Given the description of an element on the screen output the (x, y) to click on. 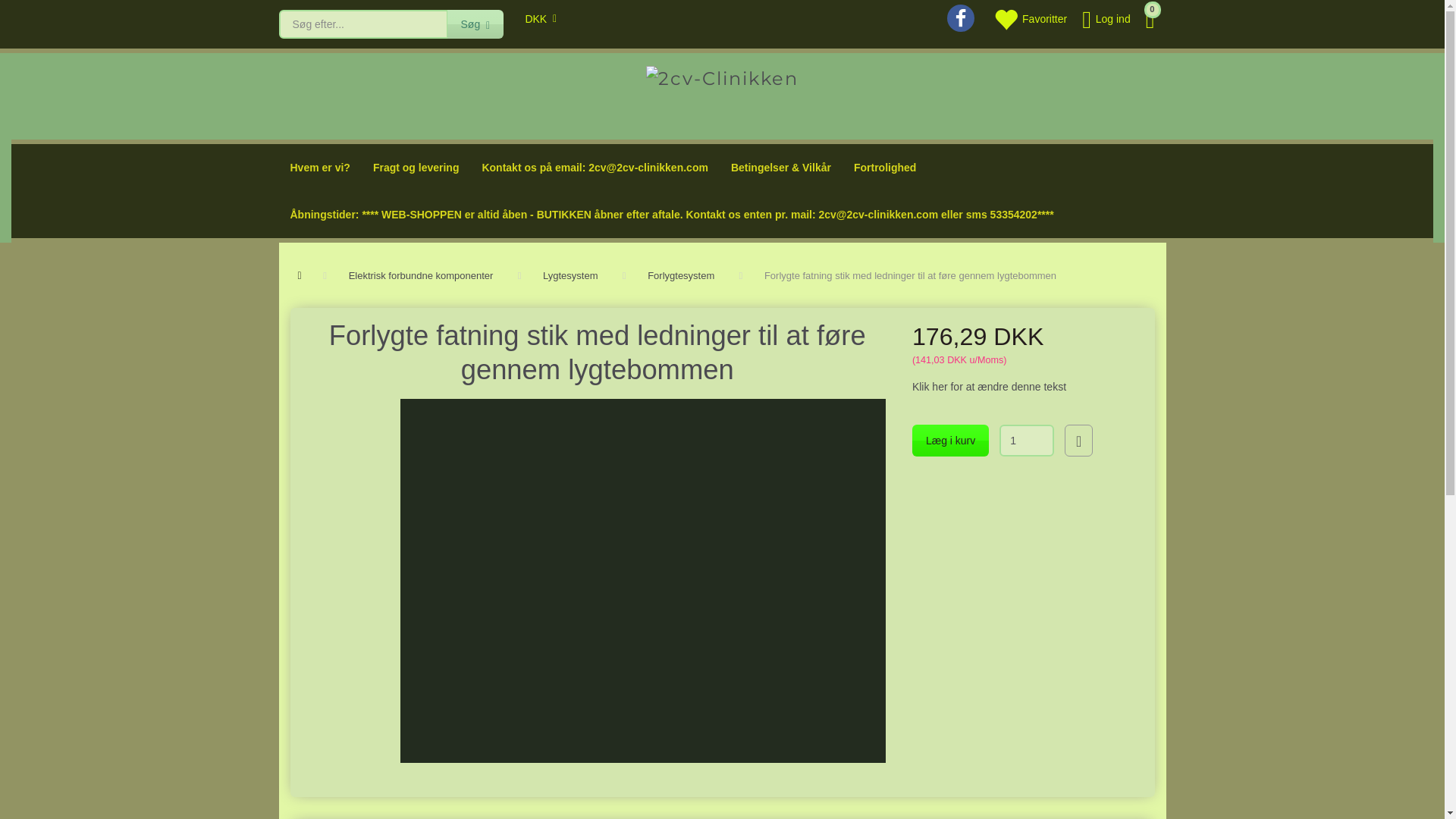
Elektrisk forbundne komponenter Element type: text (420, 275)
DKK Element type: text (533, 18)
0 Element type: text (1152, 18)
Log ind Element type: text (1106, 18)
Fortrolighed Element type: text (884, 167)
Lygtesystem Element type: text (570, 275)
Hvem er vi? Element type: text (320, 167)
Favoritter Element type: text (1029, 18)
Fragt og levering Element type: text (415, 167)
Forlygtesystem Element type: text (680, 275)
